Given the description of an element on the screen output the (x, y) to click on. 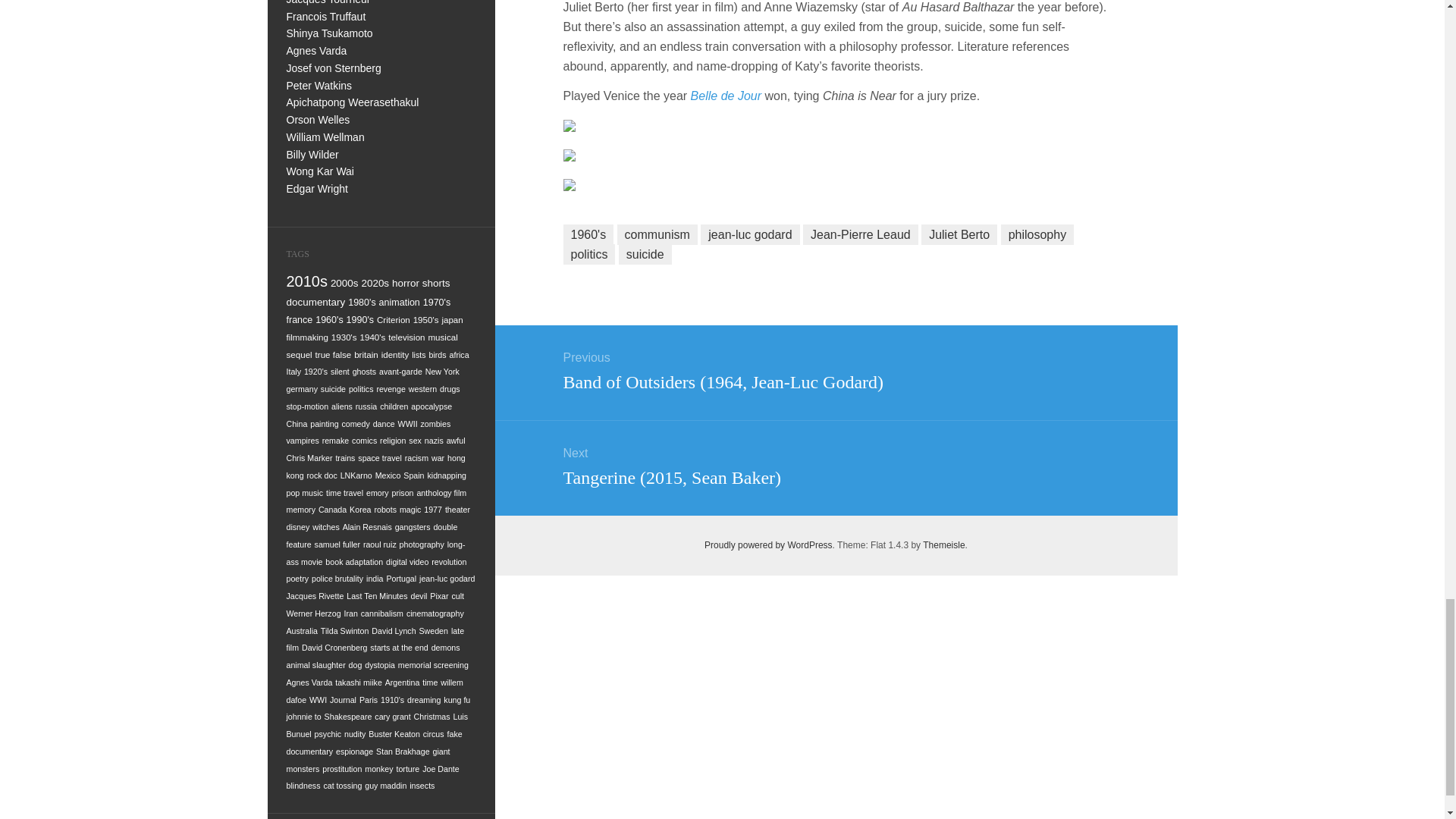
972 topics (307, 280)
171 topics (452, 319)
338 topics (405, 283)
319 topics (316, 301)
208 topics (393, 319)
196 topics (426, 319)
325 topics (435, 283)
254 topics (299, 319)
243 topics (360, 319)
347 topics (374, 283)
288 topics (361, 302)
352 topics (344, 283)
163 topics (307, 337)
272 topics (437, 302)
277 topics (399, 302)
